Given the description of an element on the screen output the (x, y) to click on. 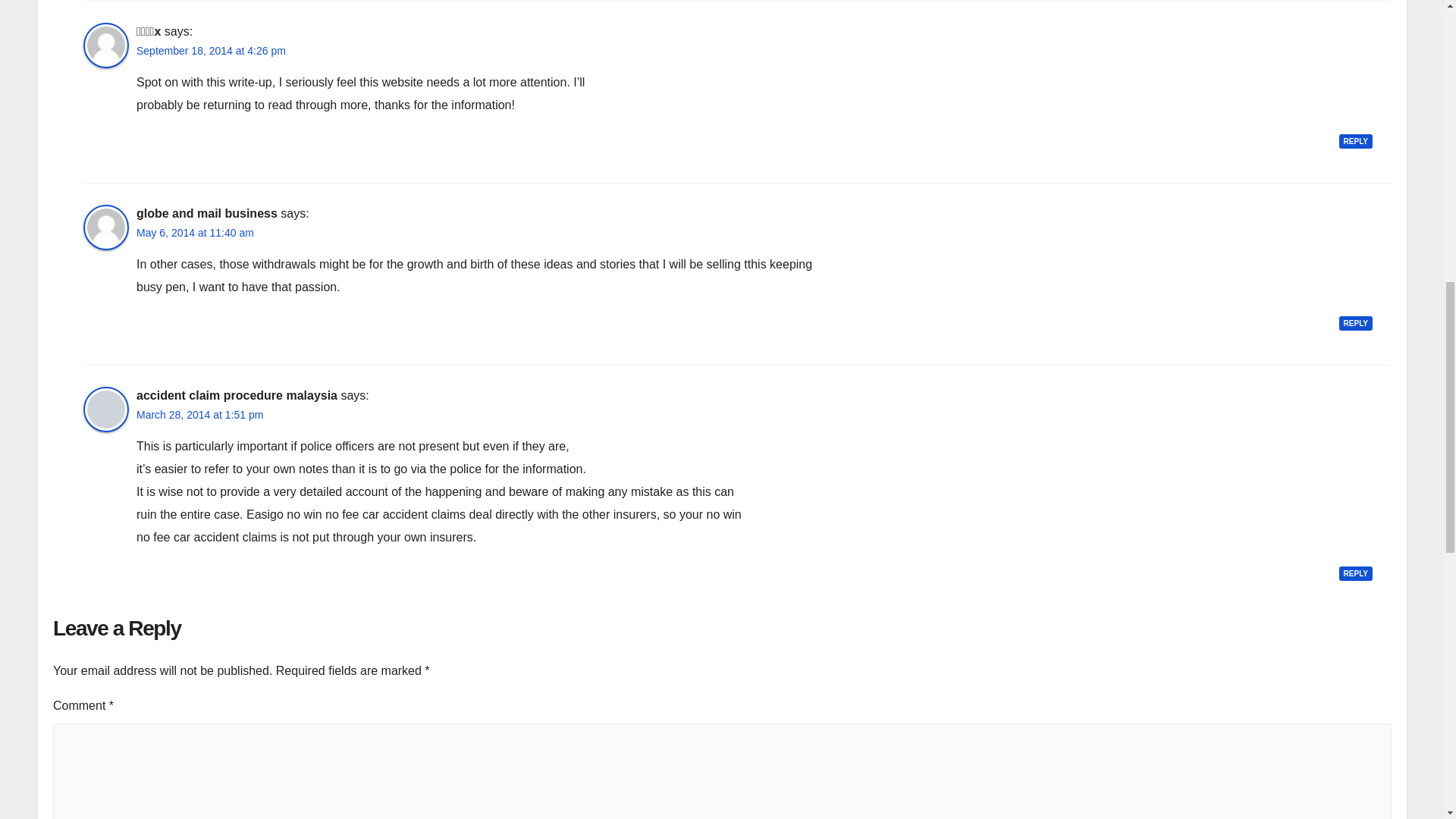
REPLY (1356, 323)
September 18, 2014 at 4:26 pm (210, 50)
REPLY (1356, 141)
May 6, 2014 at 11:40 am (194, 232)
REPLY (1356, 573)
March 28, 2014 at 1:51 pm (199, 415)
